Given the description of an element on the screen output the (x, y) to click on. 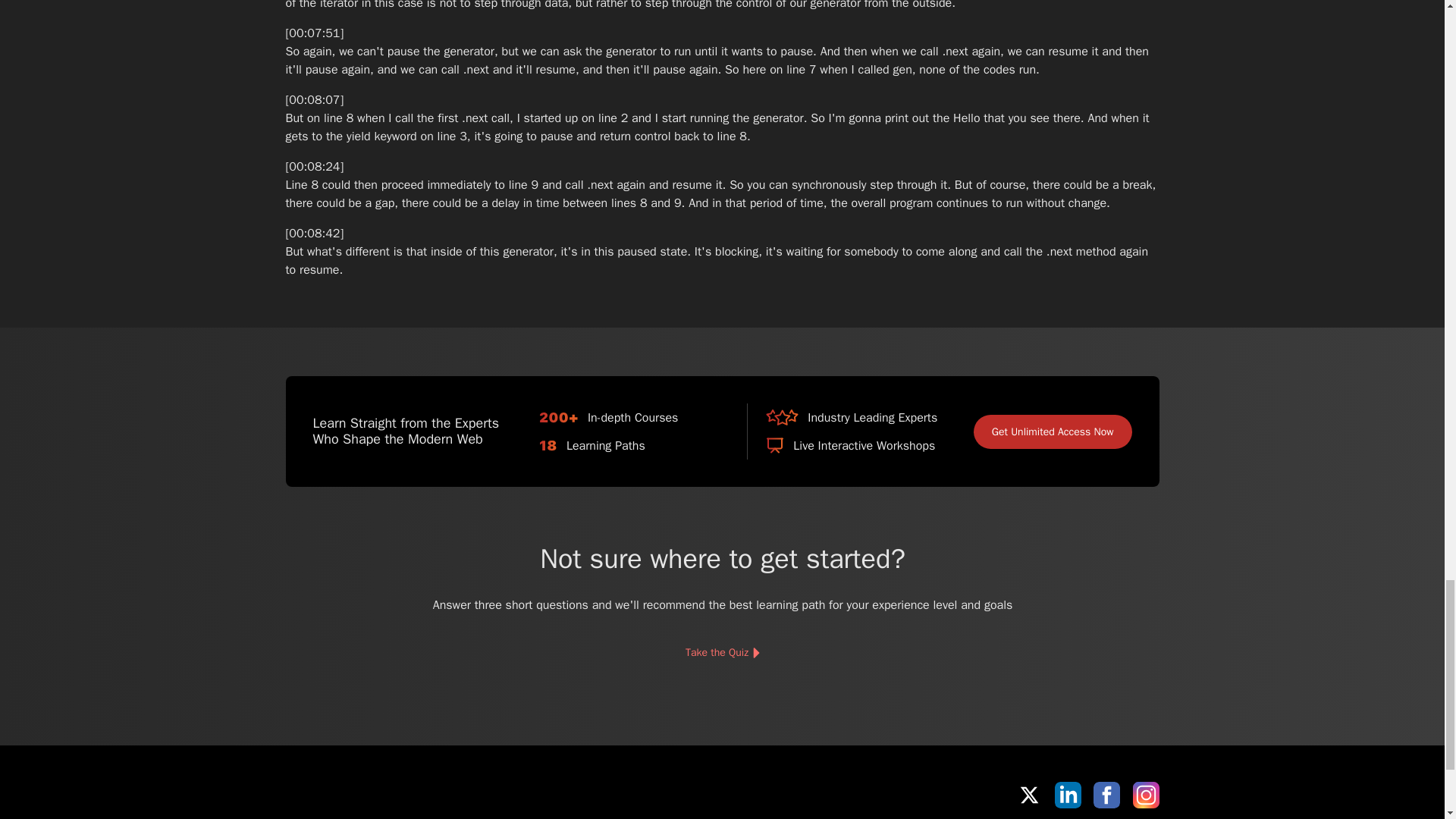
Get Unlimited Access Now (1053, 431)
Take the Quiz (720, 653)
LinkedIn (1067, 795)
Instagram (1145, 795)
Facebook (1106, 795)
